Given the description of an element on the screen output the (x, y) to click on. 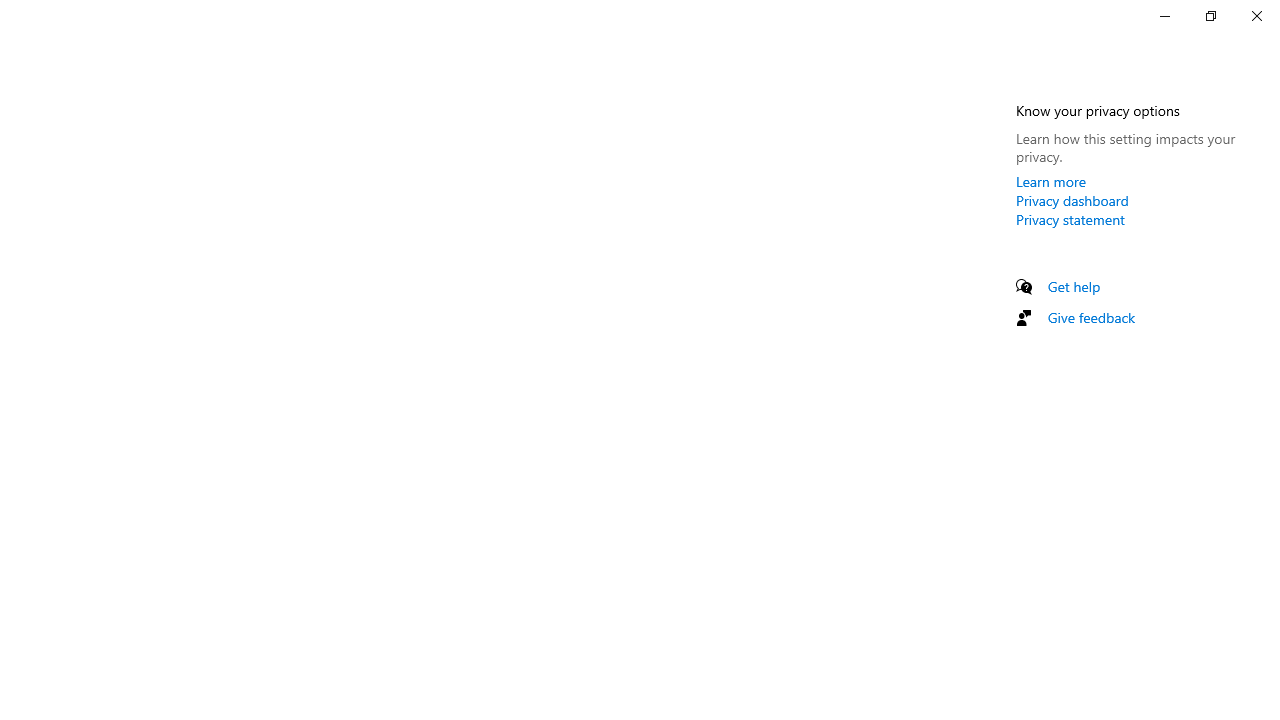
Give feedback (1091, 317)
Learn more (1051, 181)
Privacy dashboard (1072, 200)
Privacy statement (1070, 219)
